Given the description of an element on the screen output the (x, y) to click on. 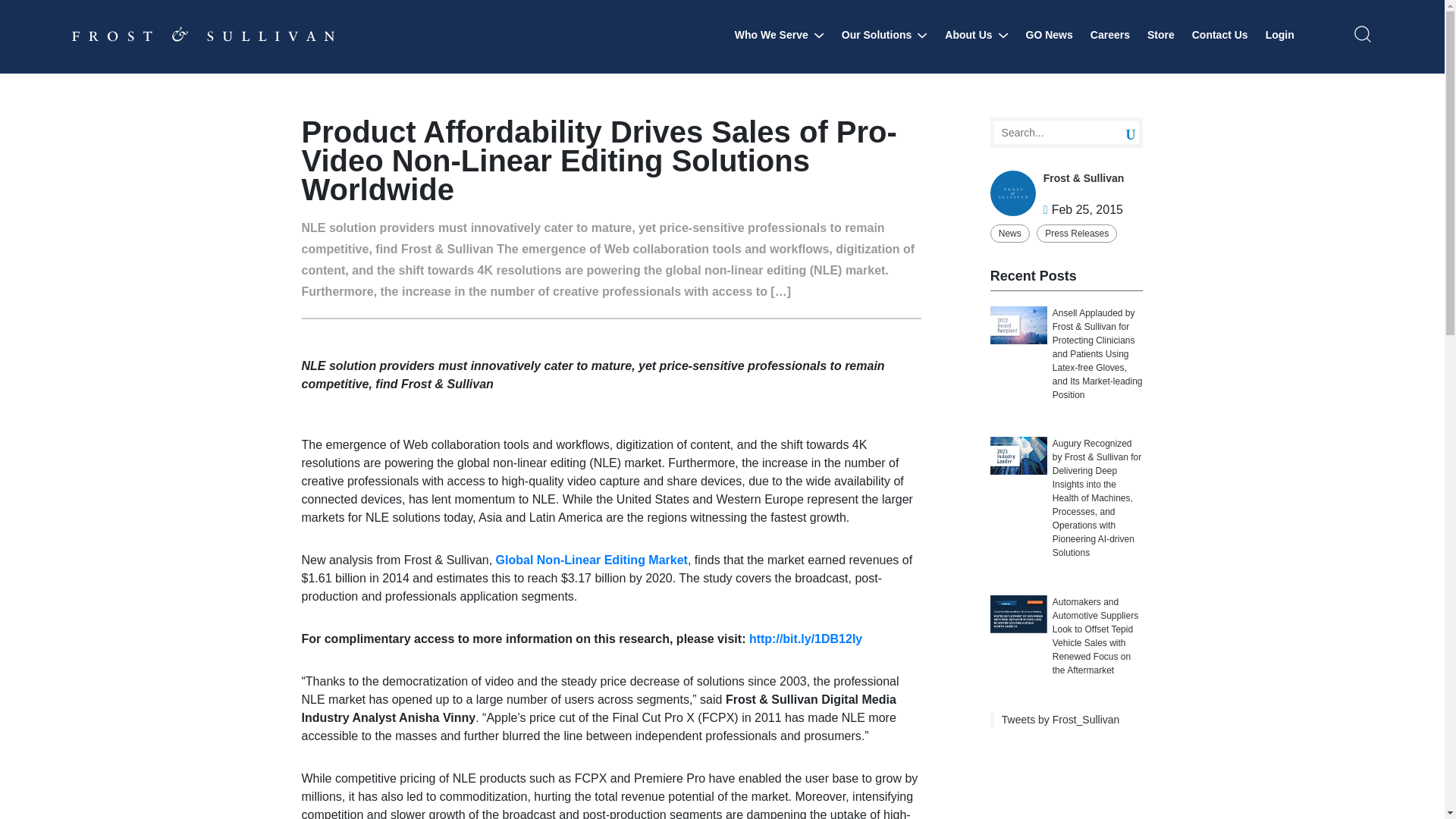
Search (1118, 132)
Who We Serve (779, 35)
